Given the description of an element on the screen output the (x, y) to click on. 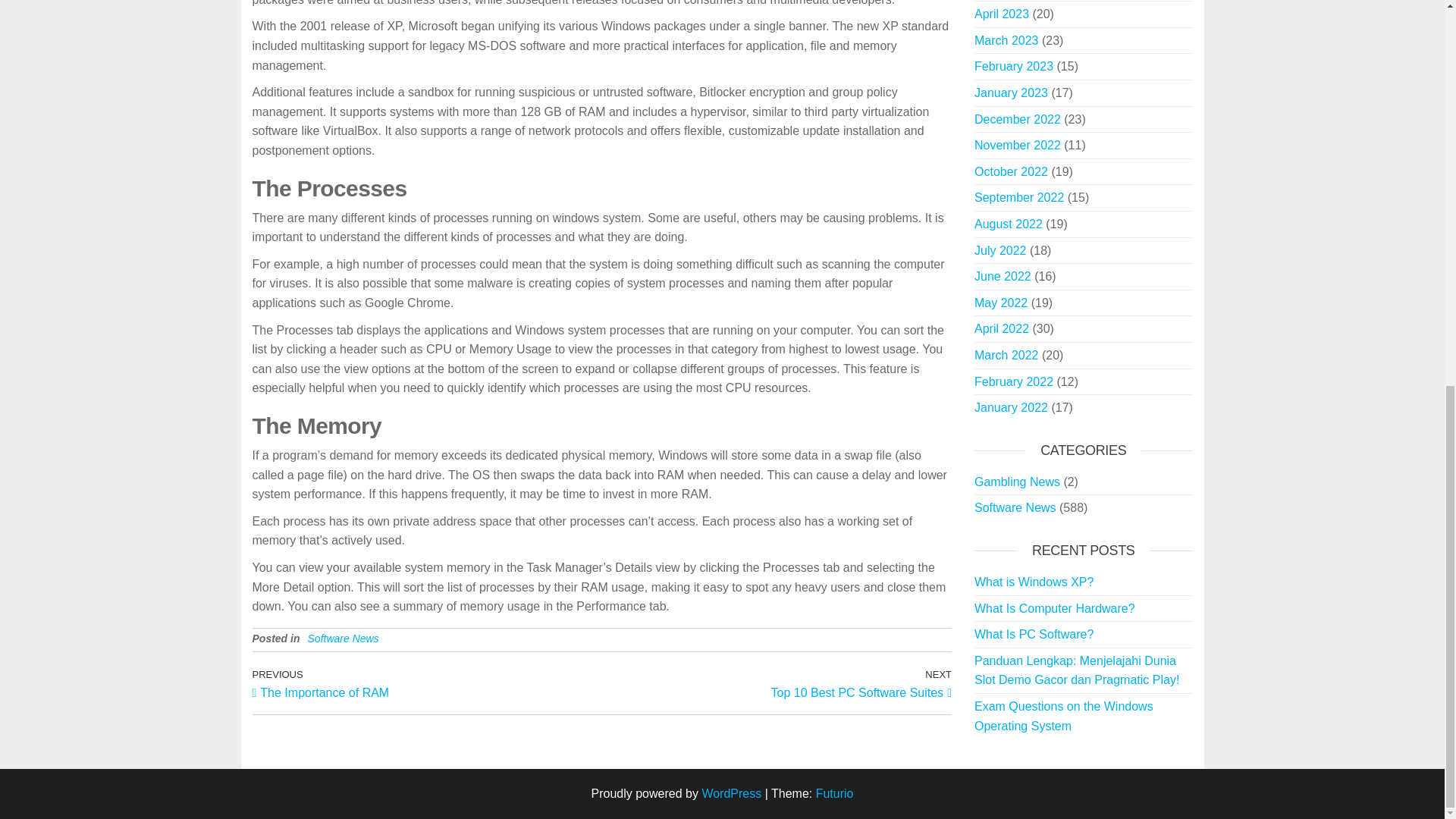
March 2023 (1006, 40)
April 2022 (1001, 328)
June 2022 (1002, 276)
November 2022 (1017, 144)
April 2023 (1001, 13)
Software News (342, 638)
May 2022 (1000, 302)
October 2022 (1011, 171)
September 2022 (1019, 196)
February 2023 (777, 683)
July 2022 (1013, 65)
January 2023 (1000, 250)
August 2022 (1011, 92)
December 2022 (1008, 223)
